Given the description of an element on the screen output the (x, y) to click on. 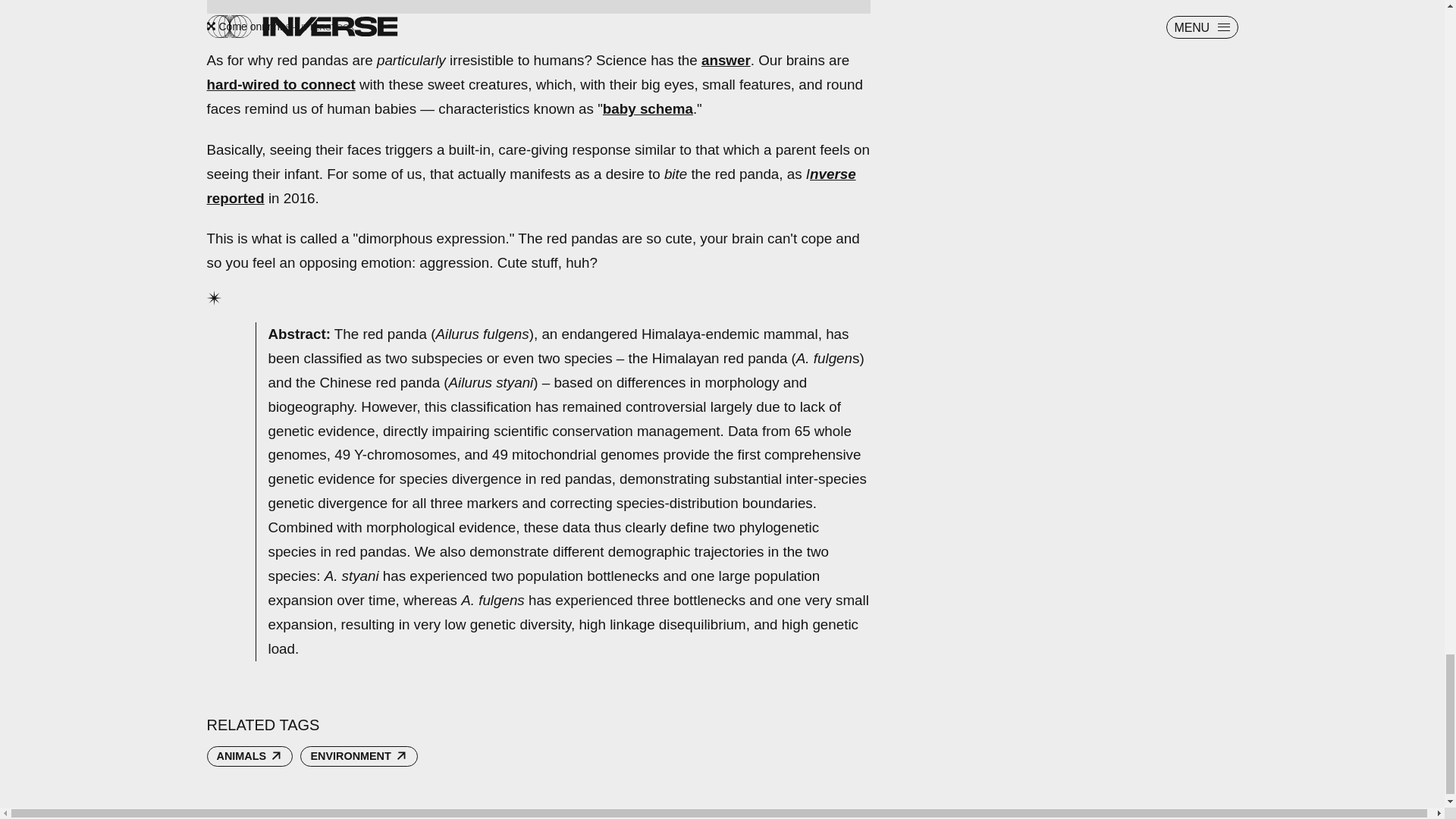
nverse reported (531, 186)
hard-wired to connect (280, 84)
ANIMALS (249, 756)
ENVIRONMENT (358, 756)
answer (726, 59)
baby schema (647, 108)
